Given the description of an element on the screen output the (x, y) to click on. 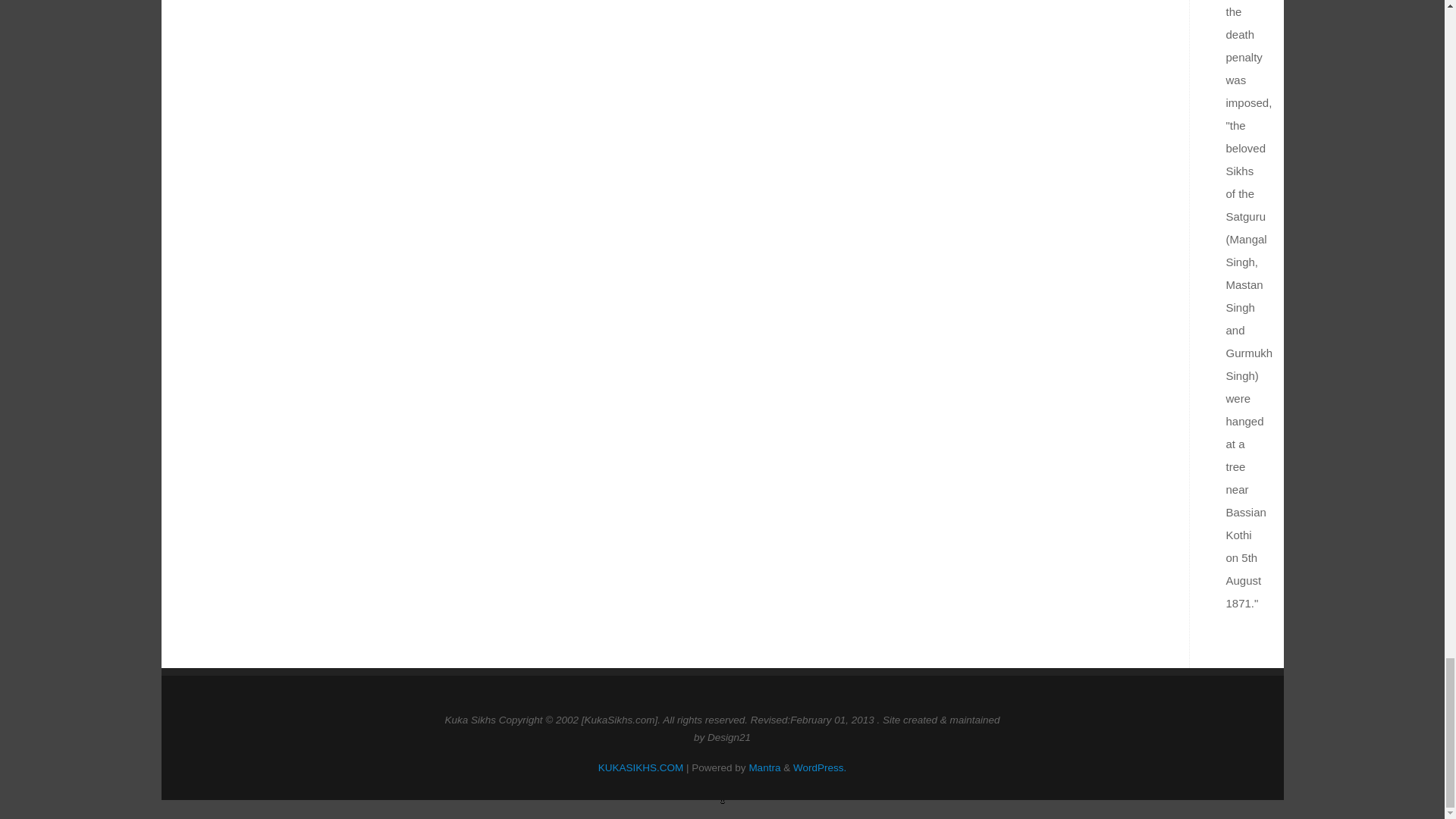
Semantic Personal Publishing Platform (819, 767)
KUKASIKHS.COM (641, 767)
Mantra Theme by Cryout Creations (764, 767)
